Given the description of an element on the screen output the (x, y) to click on. 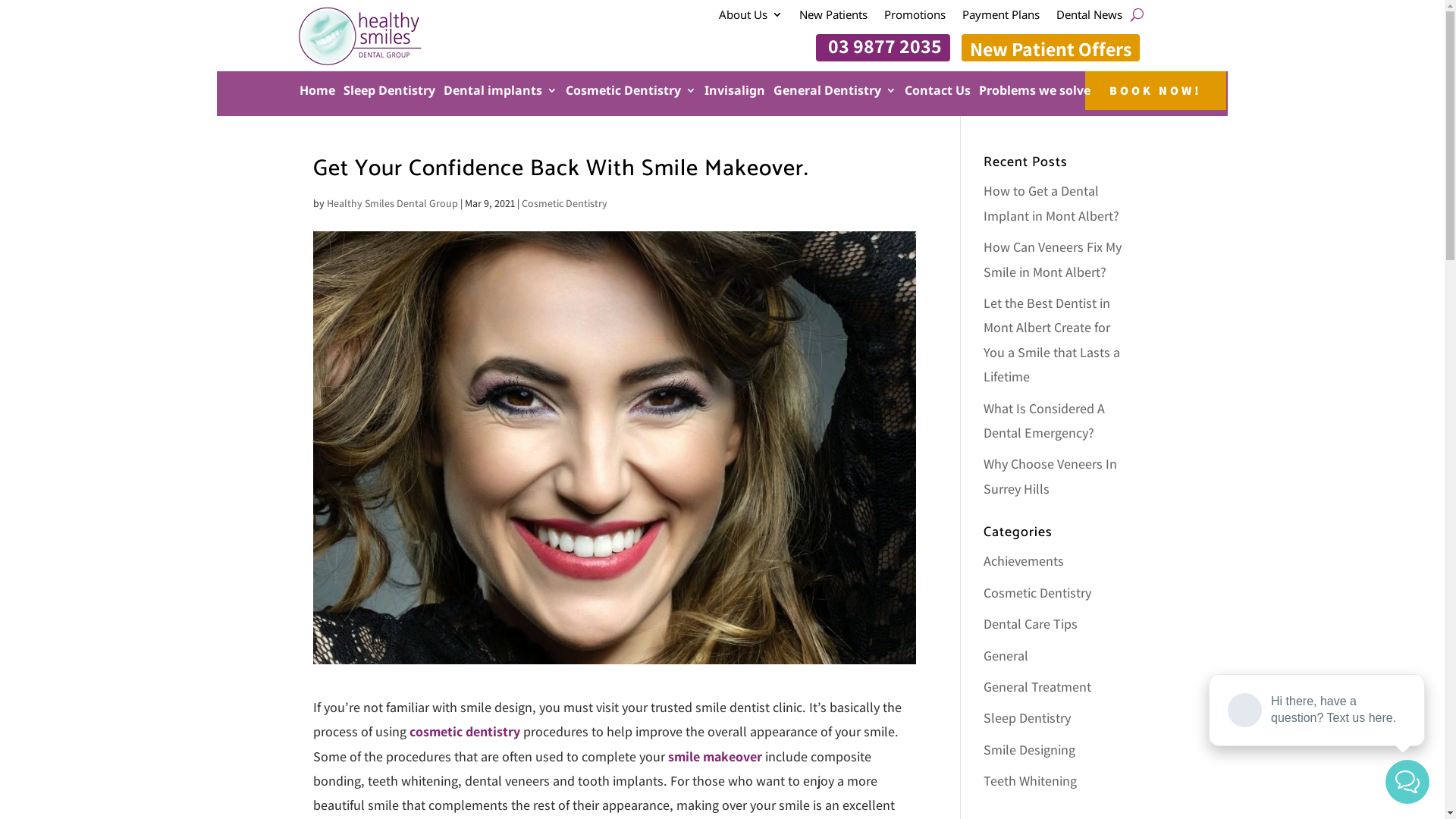
Invisalign Element type: text (734, 93)
How Can Veneers Fix My Smile in Mont Albert? Element type: text (1052, 258)
Home Element type: text (317, 93)
Smile Designing Element type: text (1029, 749)
Achievements Element type: text (1023, 560)
cosmetic dentistry Element type: text (464, 731)
Dental implants Element type: text (500, 93)
Dental Care Tips Element type: text (1030, 623)
smile makeover Element type: text (714, 756)
Why Choose Veneers In Surrey Hills Element type: text (1050, 475)
New Patients Element type: text (833, 17)
Payment Plans Element type: text (1000, 17)
Dental News Element type: text (1089, 17)
Teeth Whitening Element type: text (1029, 780)
How to Get a Dental Implant in Mont Albert? Element type: text (1051, 202)
General Treatment Element type: text (1037, 686)
What Is Considered A Dental Emergency? Element type: text (1043, 420)
Healthy Smiles Dental Group Element type: text (391, 203)
Promotions Element type: text (914, 17)
General Element type: text (1005, 655)
General Dentistry Element type: text (834, 93)
logo Element type: hover (359, 35)
BOOK NOW! Element type: text (1155, 90)
About Us Element type: text (750, 17)
New Patient Offers Element type: text (1050, 47)
Cosmetic Dentistry Element type: text (1037, 592)
Sleep Dentistry Element type: text (1026, 717)
Cosmetic Dentistry Element type: text (564, 203)
Contact Us Element type: text (937, 93)
Sleep Dentistry Element type: text (389, 93)
Problems we solve Element type: text (1034, 93)
Cosmetic Dentistry Element type: text (630, 93)
03 9877 2035 Element type: text (882, 47)
